Given the description of an element on the screen output the (x, y) to click on. 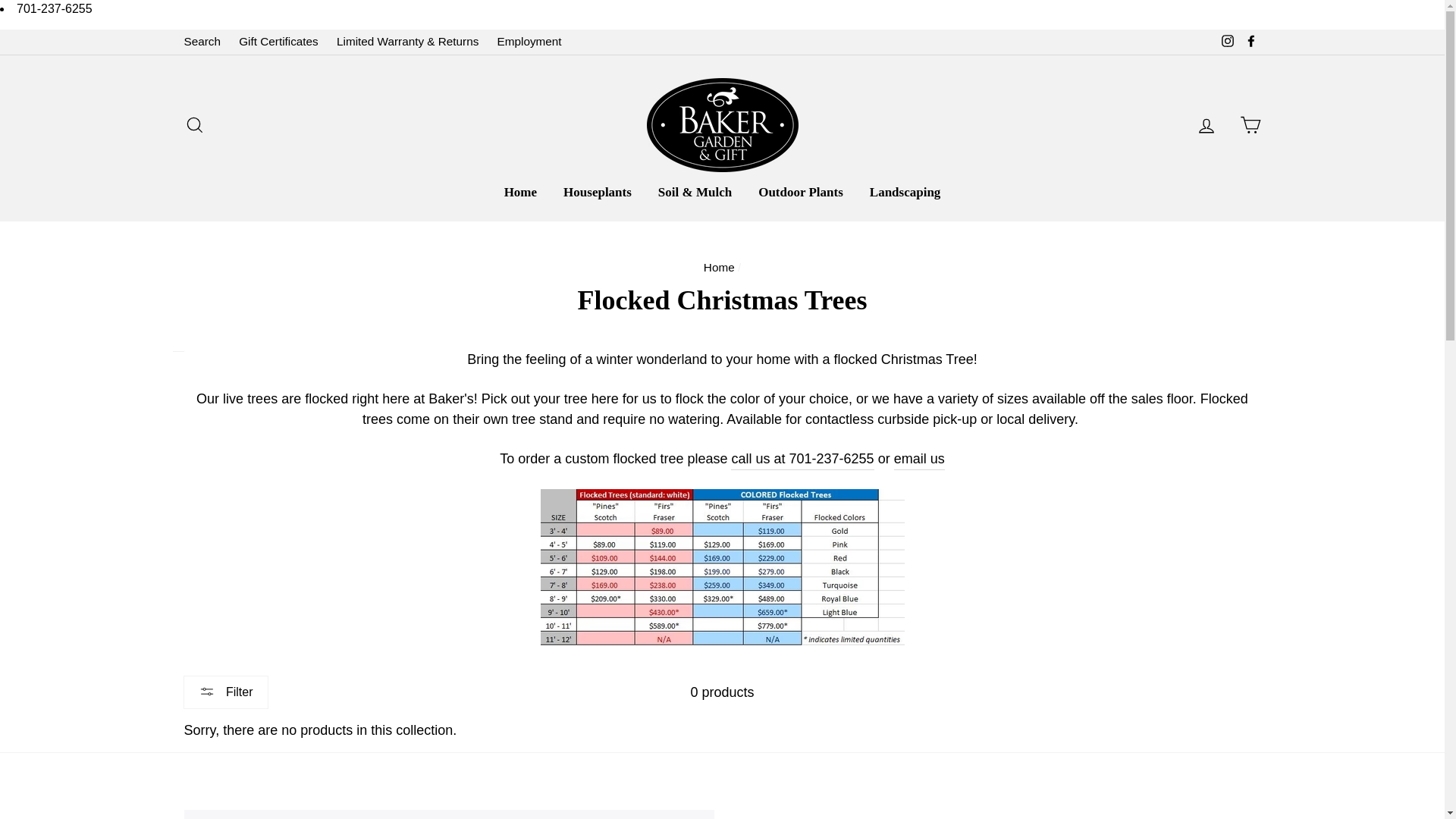
Back to the frontpage (719, 267)
701-237-6255 (54, 8)
